Given the description of an element on the screen output the (x, y) to click on. 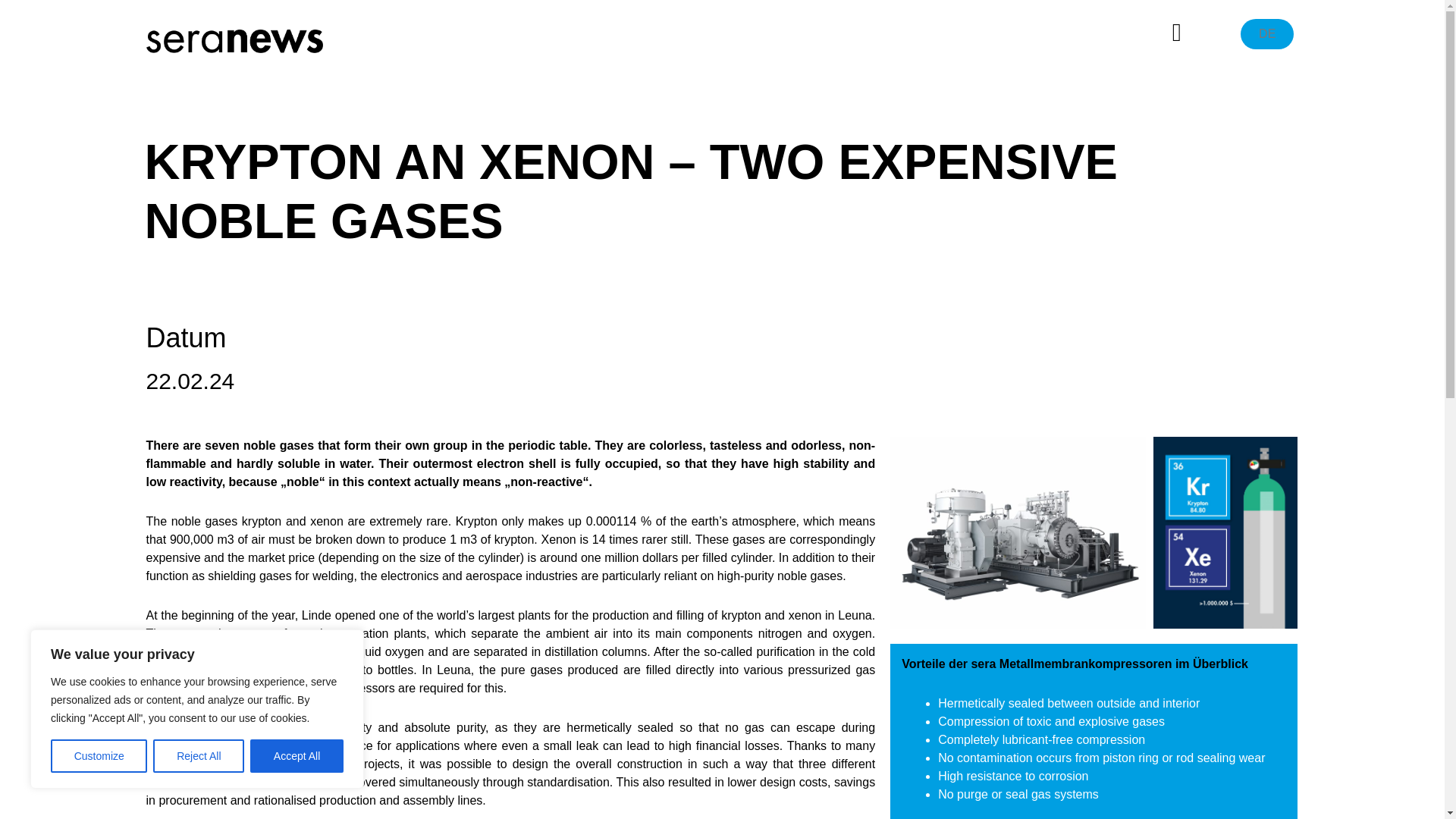
Reject All (198, 756)
DE (1267, 33)
Accept All (296, 756)
Customize (98, 756)
